Given the description of an element on the screen output the (x, y) to click on. 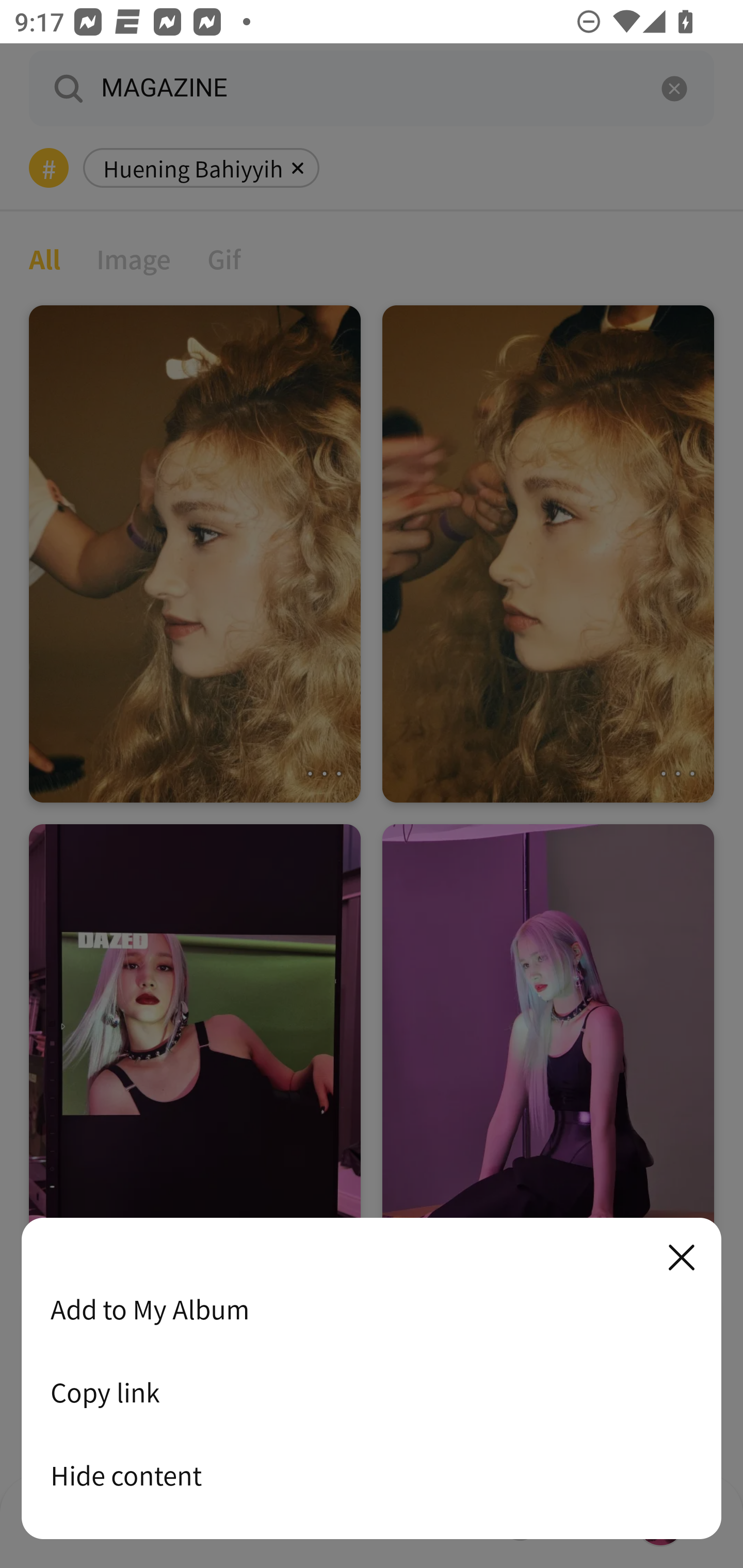
Add to My Album Copy link Hide content (371, 1378)
Add to My Album (371, 1308)
Copy link (371, 1391)
Hide content (371, 1474)
